Given the description of an element on the screen output the (x, y) to click on. 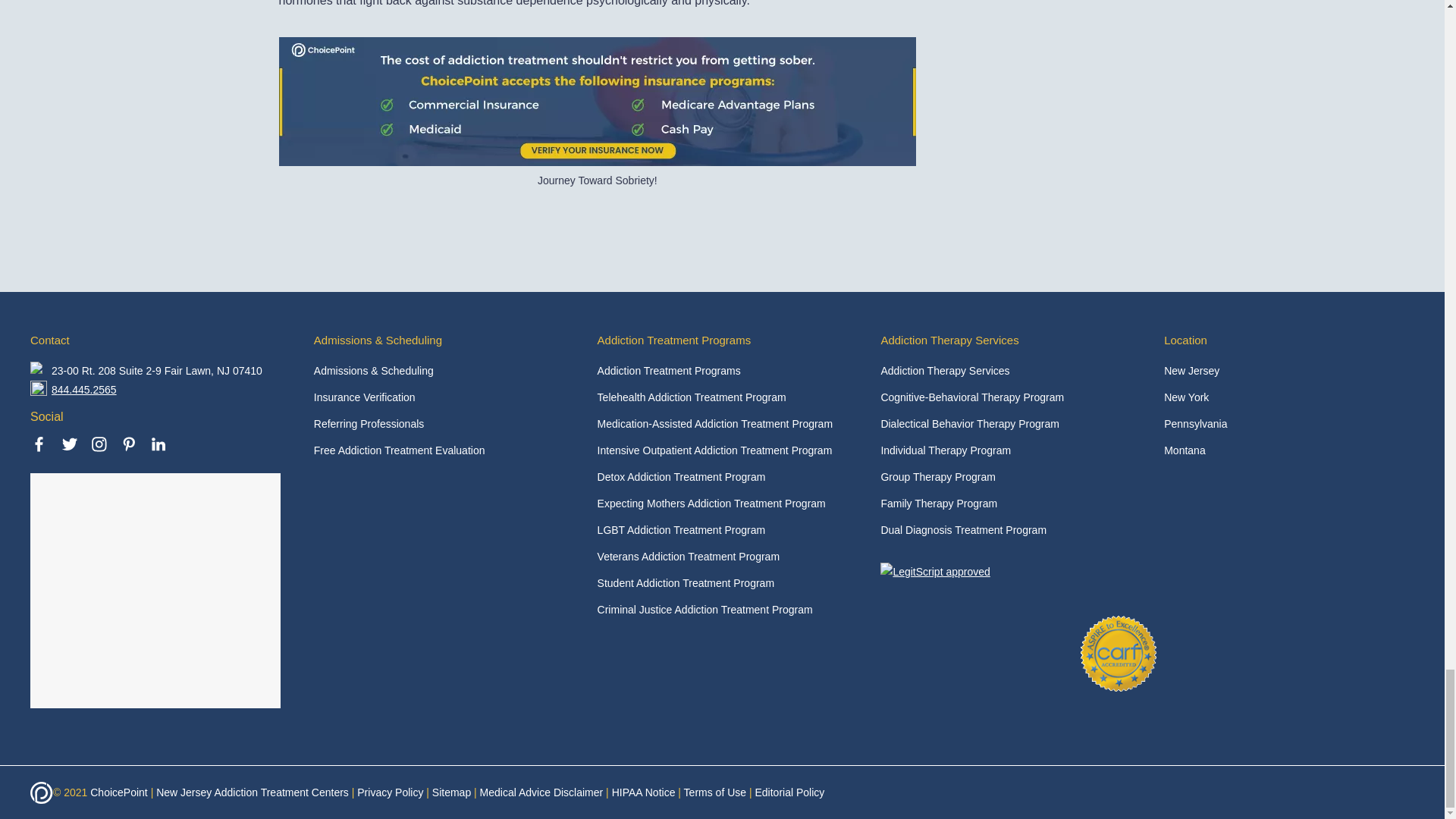
Verify LegitScript Approval (935, 571)
